Given the description of an element on the screen output the (x, y) to click on. 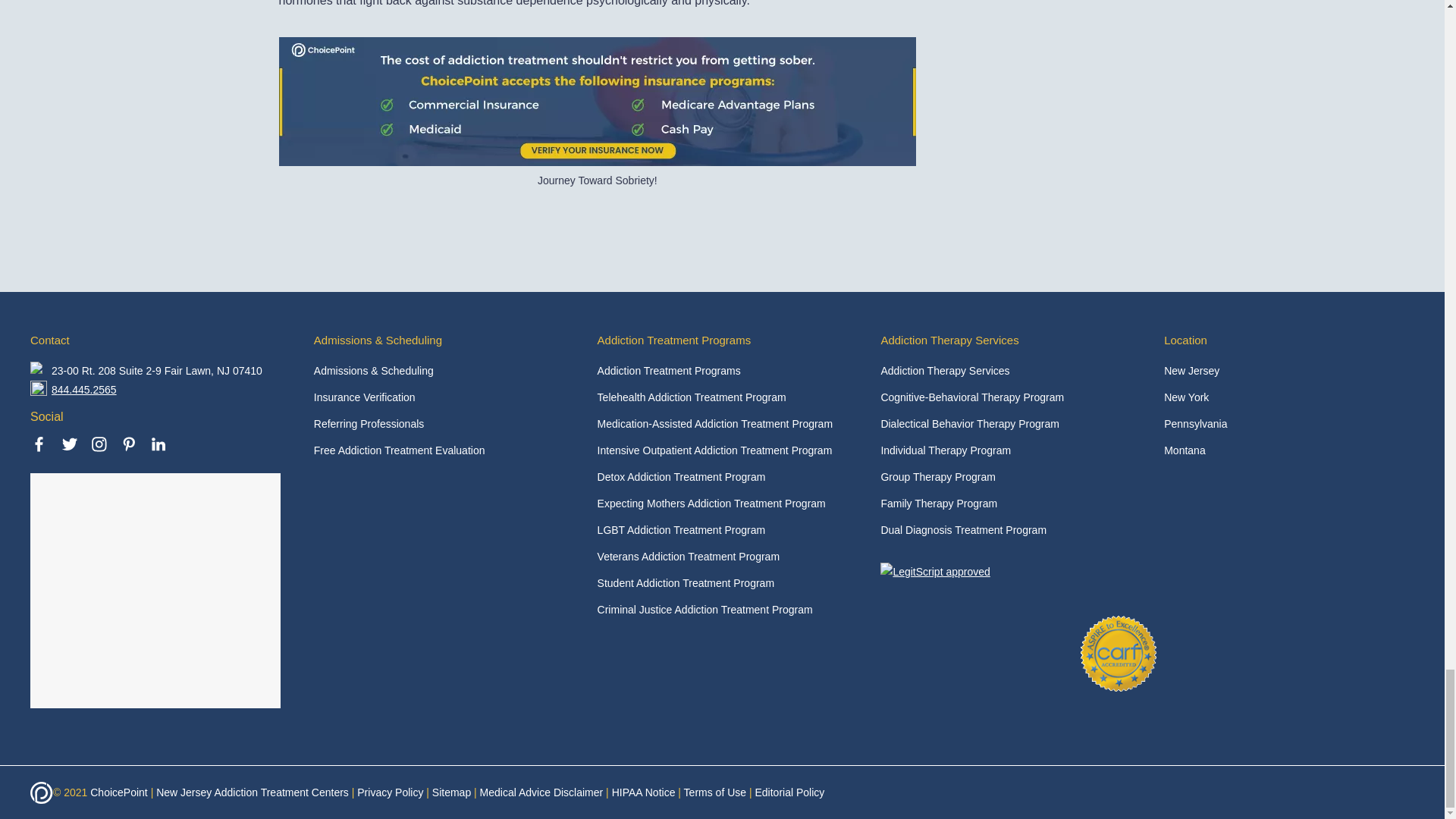
Verify LegitScript Approval (935, 571)
